Given the description of an element on the screen output the (x, y) to click on. 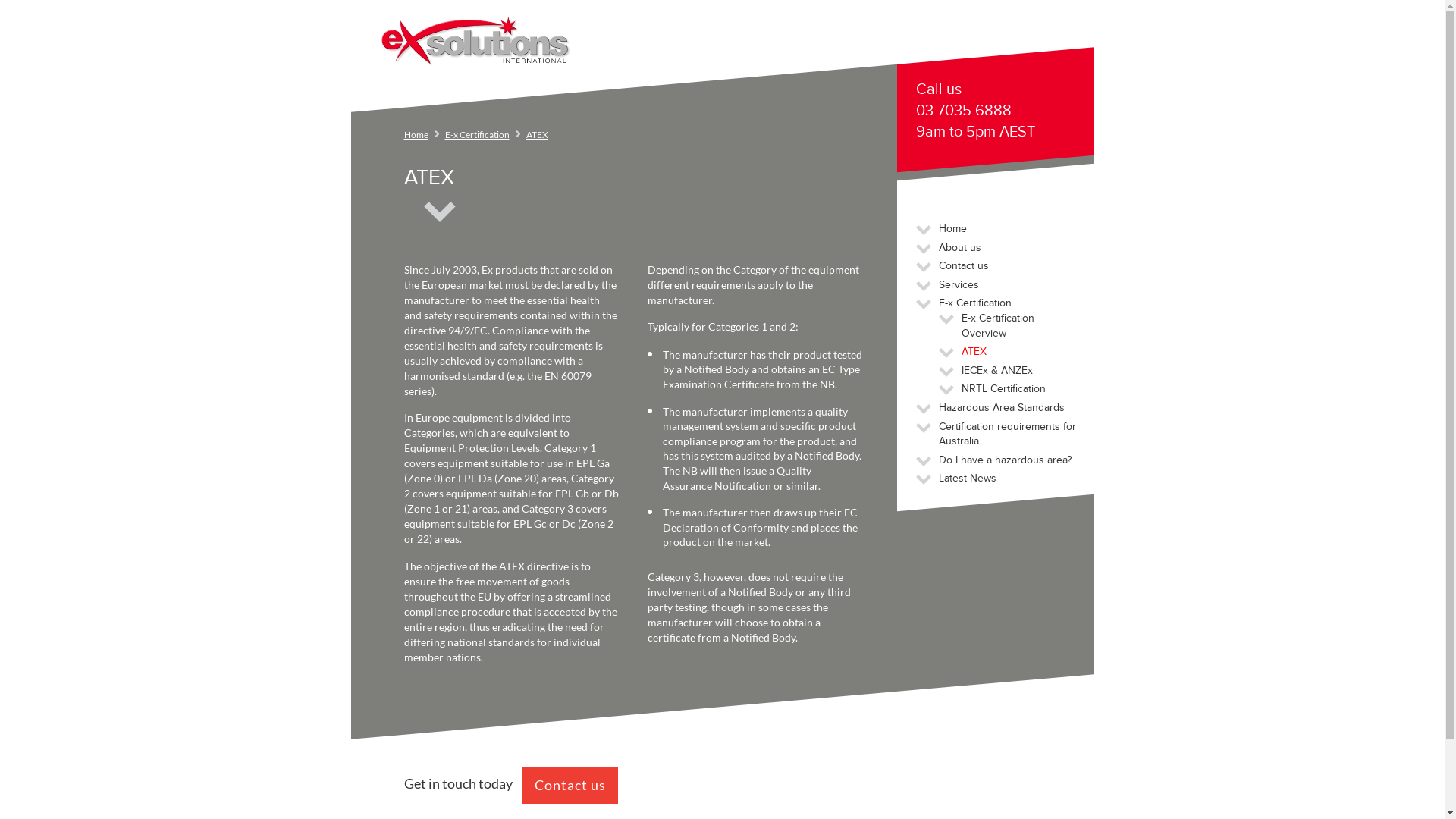
Do I have a hazardous area? Element type: text (1004, 459)
Certification requirements for Australia Element type: text (1007, 434)
E-x Certification Element type: text (974, 302)
About us Element type: text (959, 247)
E-x Certification Element type: text (476, 134)
Home Element type: text (952, 228)
E-x Certification Overview Element type: text (997, 325)
Contact us Element type: text (963, 265)
Call us
03 7035 6888
9am to 5pm AEST Element type: text (997, 112)
IECEx & ANZEx Element type: text (996, 370)
Hazardous Area Standards Element type: text (1001, 407)
ATEX Element type: text (973, 351)
Contact us Element type: text (569, 785)
Latest News Element type: text (967, 477)
Home Element type: text (415, 134)
ATEX Element type: text (537, 134)
NRTL Certification Element type: text (1003, 388)
Services Element type: text (958, 284)
